Given the description of an element on the screen output the (x, y) to click on. 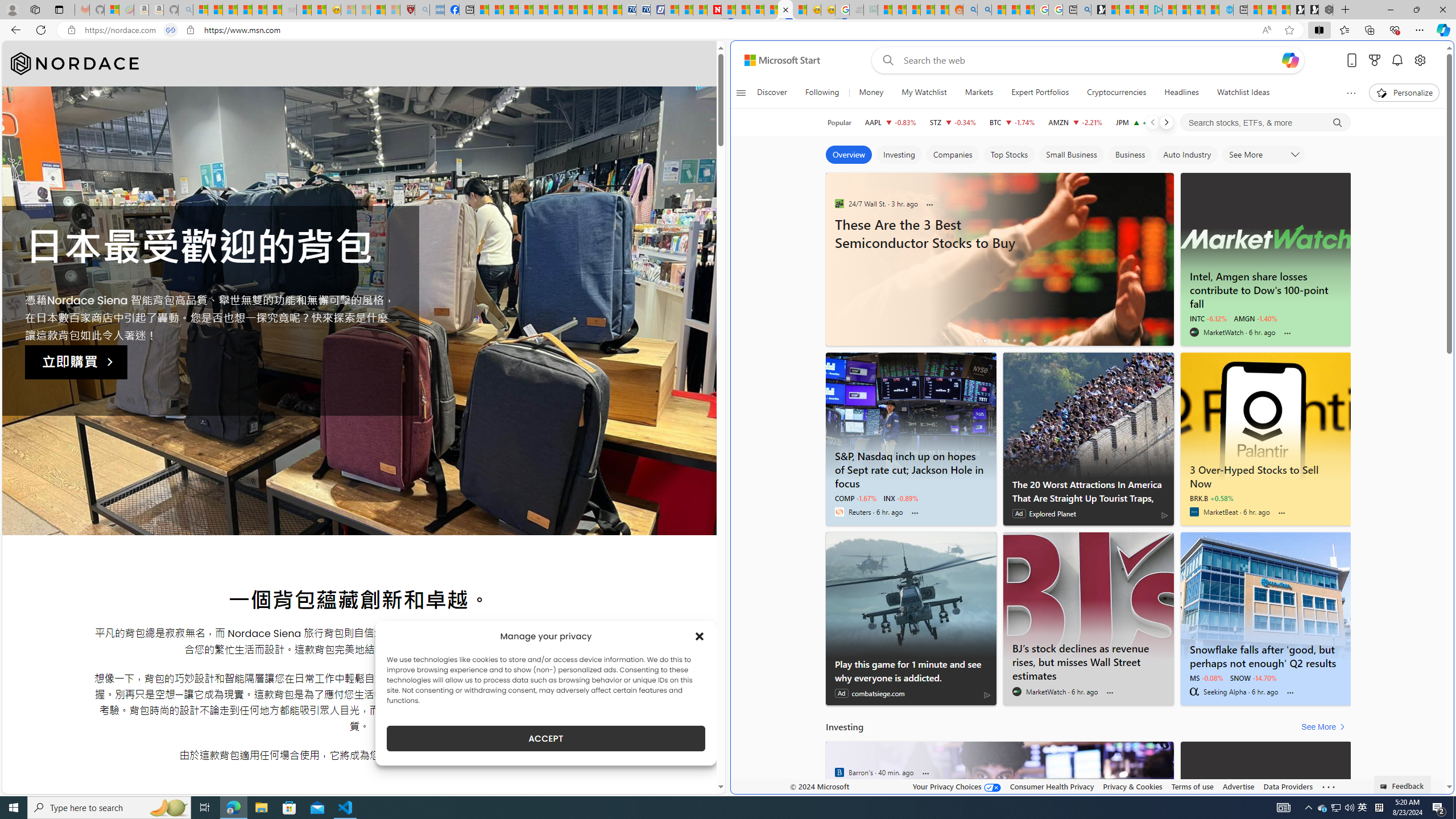
MarketWatch (1016, 691)
Markets (979, 92)
Popular (839, 121)
MarketBeat (1193, 511)
AMGN -1.40% (1254, 317)
Data Providers (1288, 786)
